Given the description of an element on the screen output the (x, y) to click on. 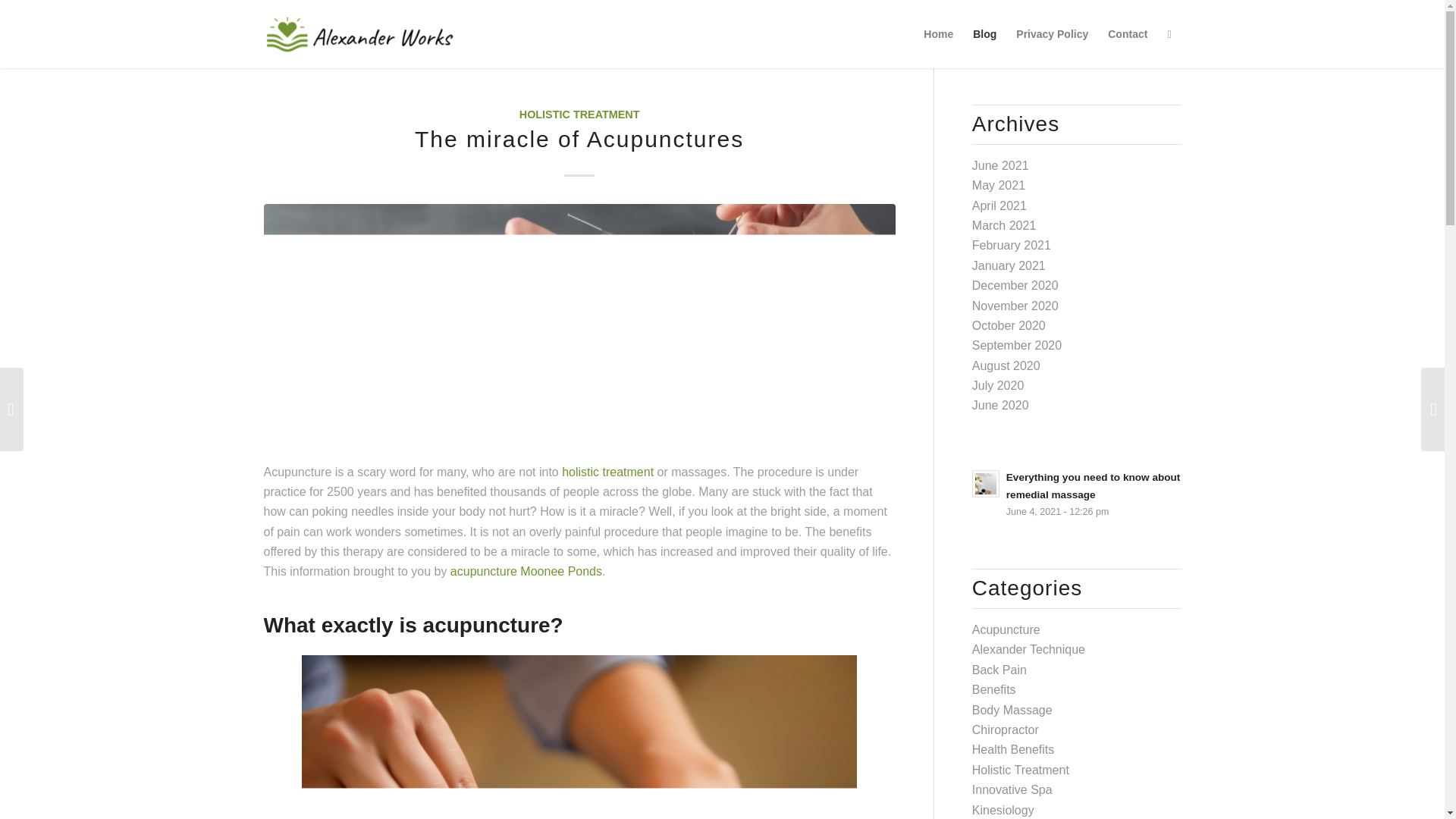
February 2021 (1011, 245)
March 2021 (1004, 225)
April 2021 (999, 205)
Everything you need to know about remedial massage (1076, 493)
January 2021 (1008, 265)
May 2021 (998, 185)
acupuncture Moonee Ponds (525, 571)
holistic treatment (607, 472)
The miracle of Acupunctures (579, 138)
October 2020 (1008, 325)
June 2020 (1000, 404)
Permanent Link: The miracle of Acupunctures (579, 138)
August 2020 (1006, 365)
